Given the description of an element on the screen output the (x, y) to click on. 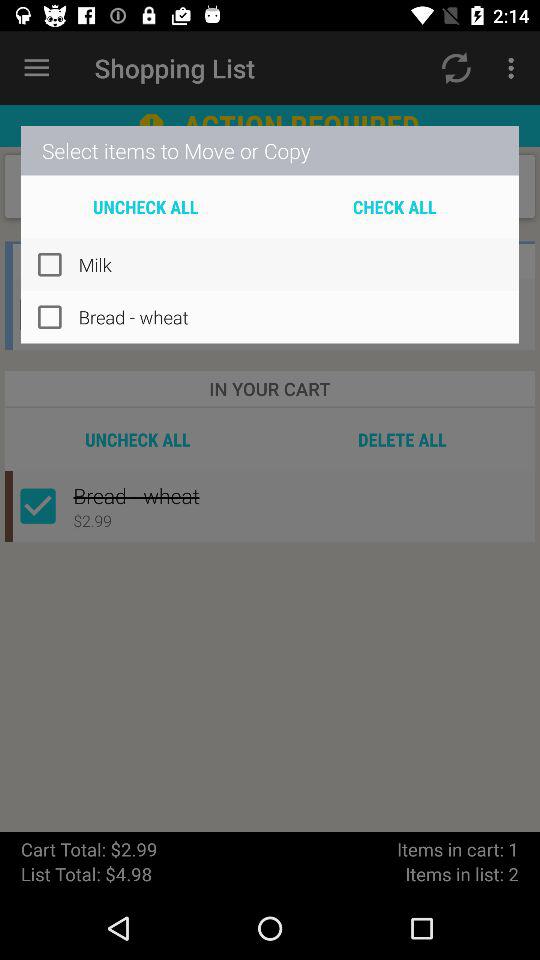
choose check all at the top right corner (394, 206)
